Given the description of an element on the screen output the (x, y) to click on. 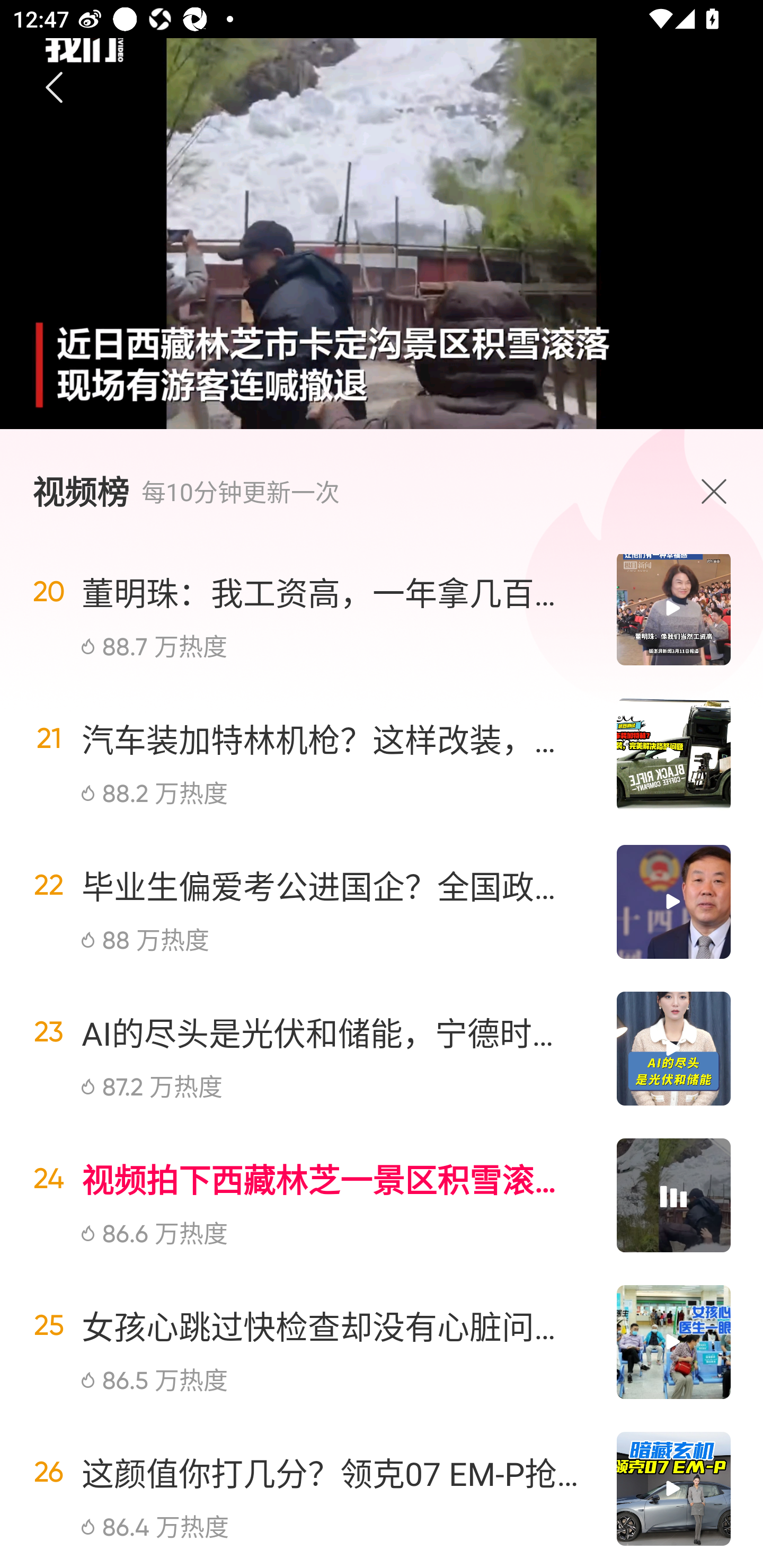
 返回 (54, 87)
 (718, 491)
21 汽车装加特林机枪？这样改装，完美解决路怒问题 88.2 万热度 (381, 754)
22 毕业生偏爱考公进国企？全国政协委员刘林：不应指责年轻人 88 万热度 (381, 901)
23 AI的尽头是光伏和储能，宁德时代翻身了？ 87.2 万热度 (381, 1048)
24 视频拍下西藏林芝一景区积雪滚落瞬间：砸倒围挡 游客连喊撤退 86.6 万热度 (381, 1195)
25 女孩心跳过快检查却没有心脏问题，医生问了一句话找出病因所在 86.5 万热度 (381, 1341)
26 这颜值你打几分？领克07 EM-P抢先体验，真有那么香吗 86.4 万热度 (381, 1488)
